Given the description of an element on the screen output the (x, y) to click on. 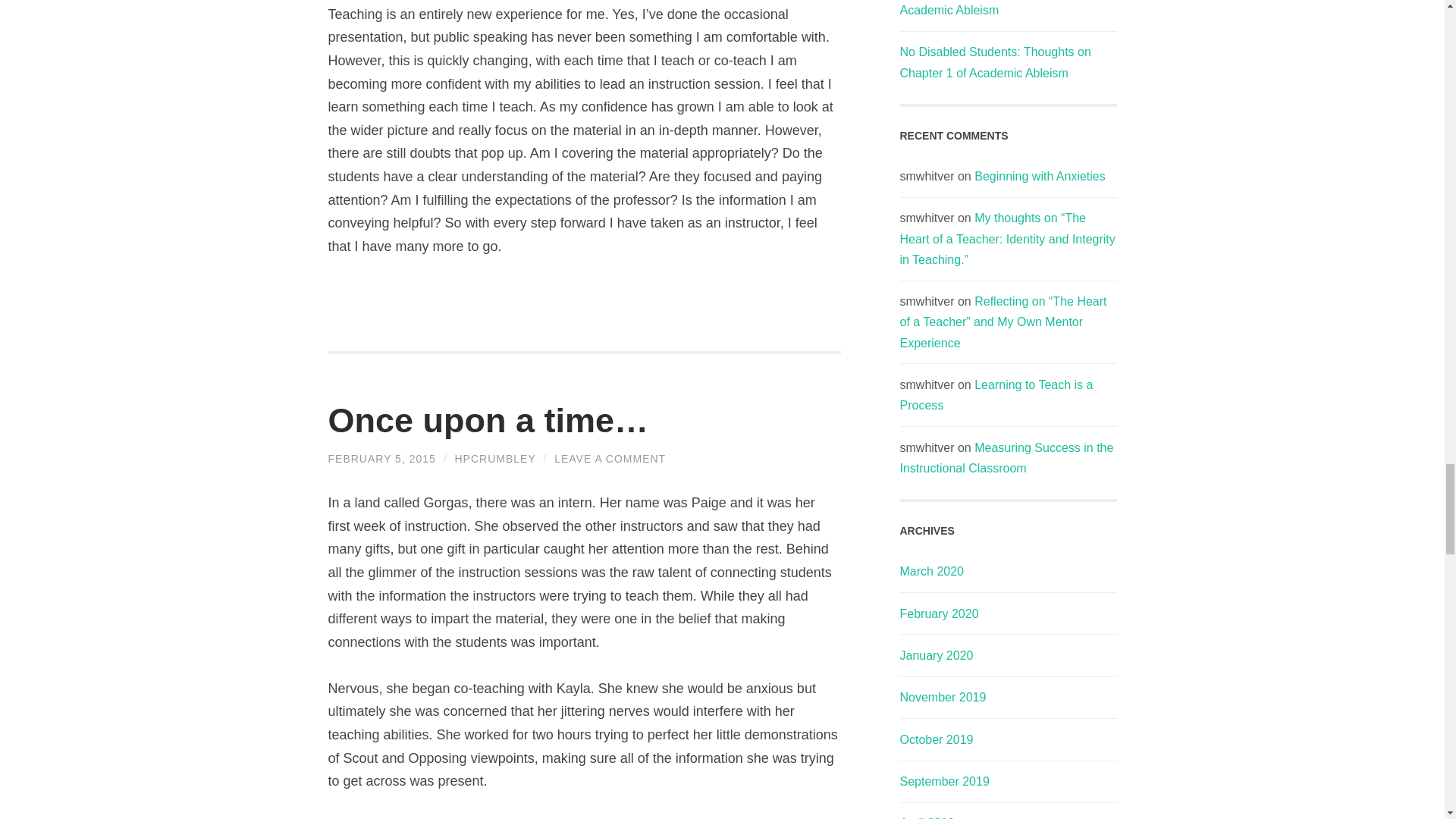
LEAVE A COMMENT (609, 458)
HPCRUMBLEY (494, 458)
